Given the description of an element on the screen output the (x, y) to click on. 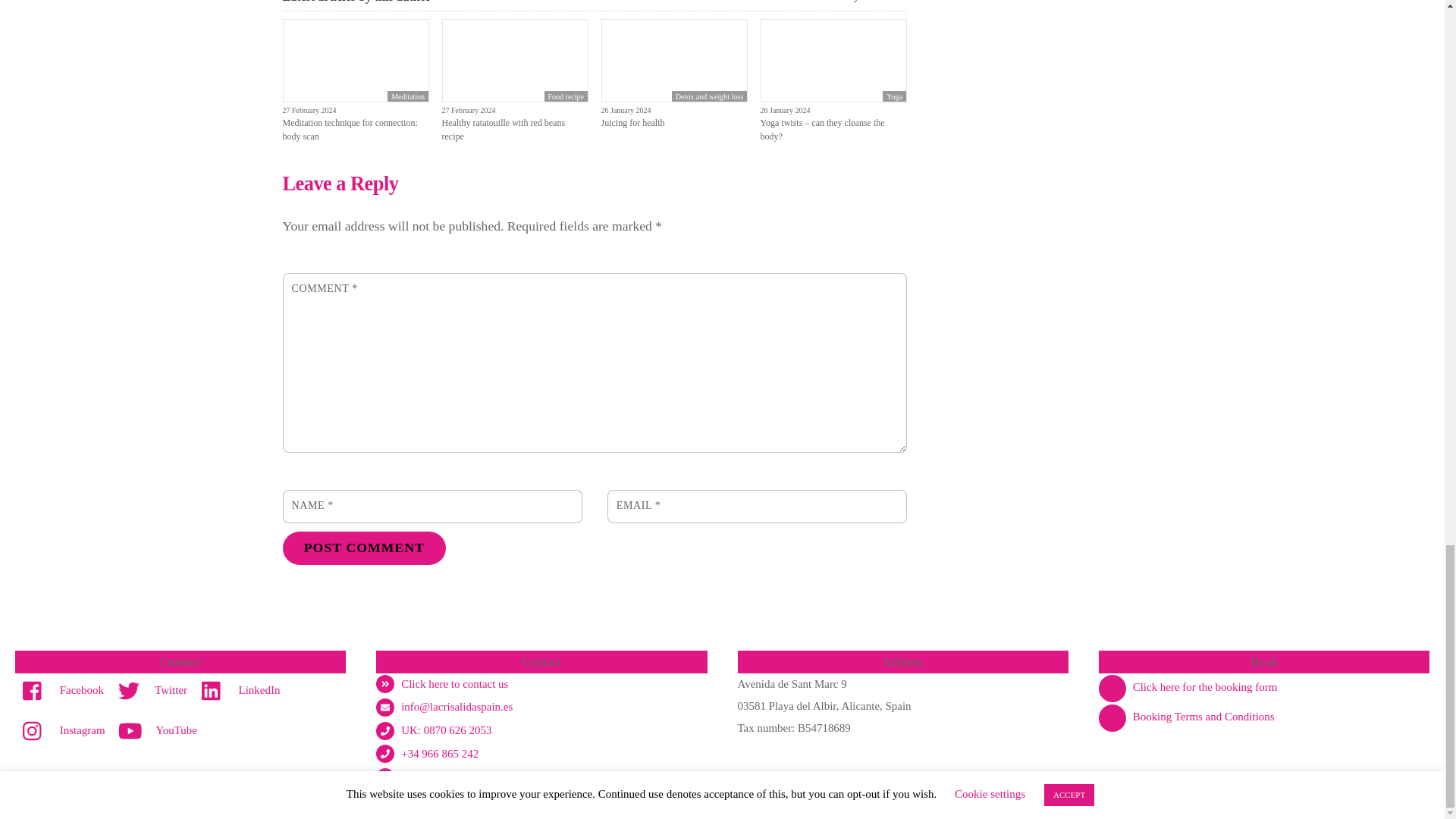
Post Comment (363, 548)
